Given the description of an element on the screen output the (x, y) to click on. 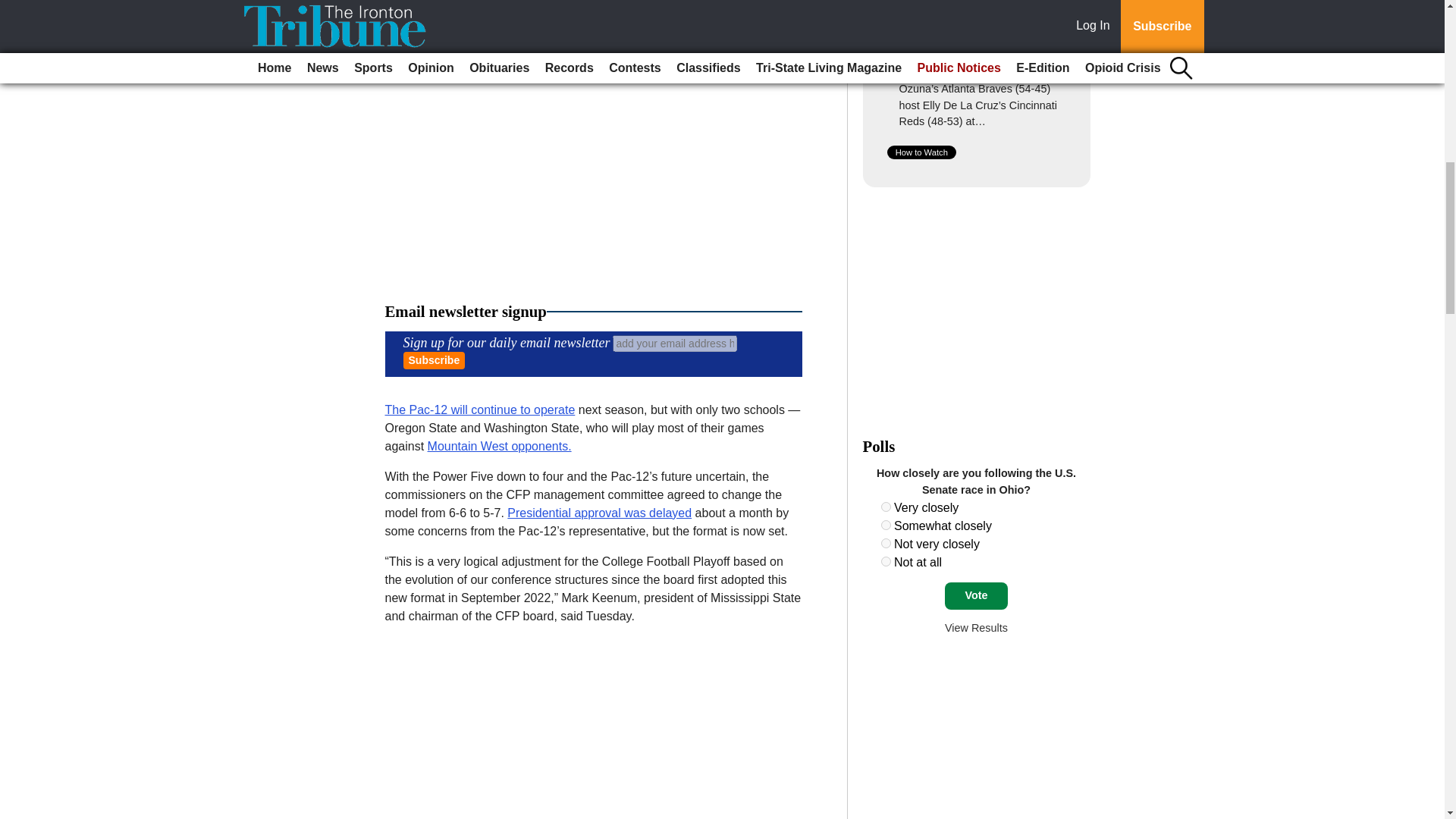
1434 (885, 542)
1432 (885, 506)
Mountain West opponents. (500, 445)
   Vote    (975, 595)
Subscribe (434, 360)
View Results Of This Poll (975, 627)
The Pac-12 will continue to operate (480, 409)
1433 (885, 524)
Presidential approval was delayed (598, 512)
Subscribe (434, 360)
1435 (885, 561)
